Given the description of an element on the screen output the (x, y) to click on. 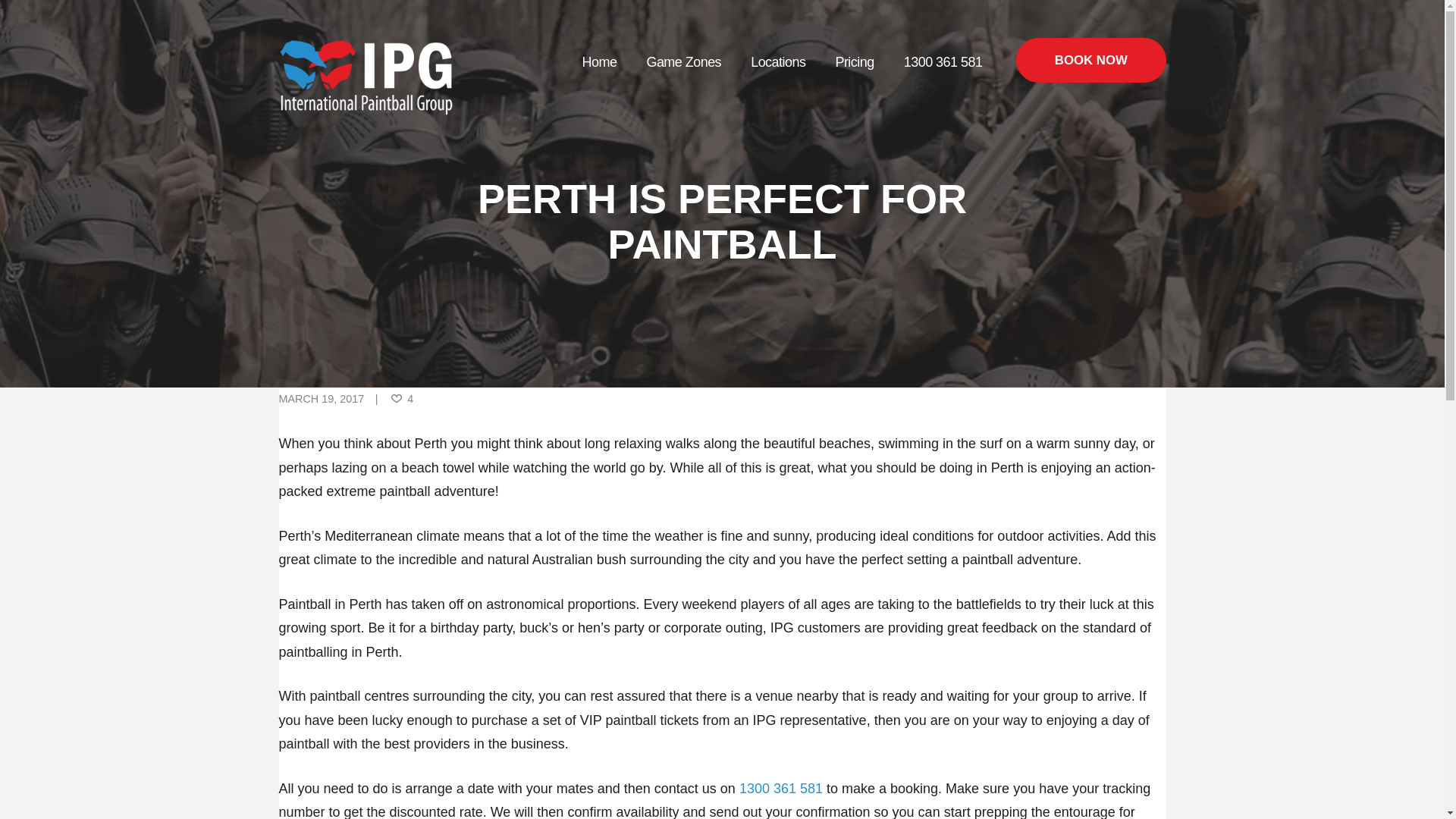
Home Element type: text (599, 62)
1300 361 581 Element type: text (942, 62)
BOOK NOW Element type: text (1090, 59)
Locations Element type: text (778, 62)
MARCH 19, 2017 Element type: text (321, 398)
Pricing Element type: text (854, 62)
4 Element type: text (401, 399)
Game Zones Element type: text (683, 62)
1300 361 581 Element type: text (780, 788)
